Given the description of an element on the screen output the (x, y) to click on. 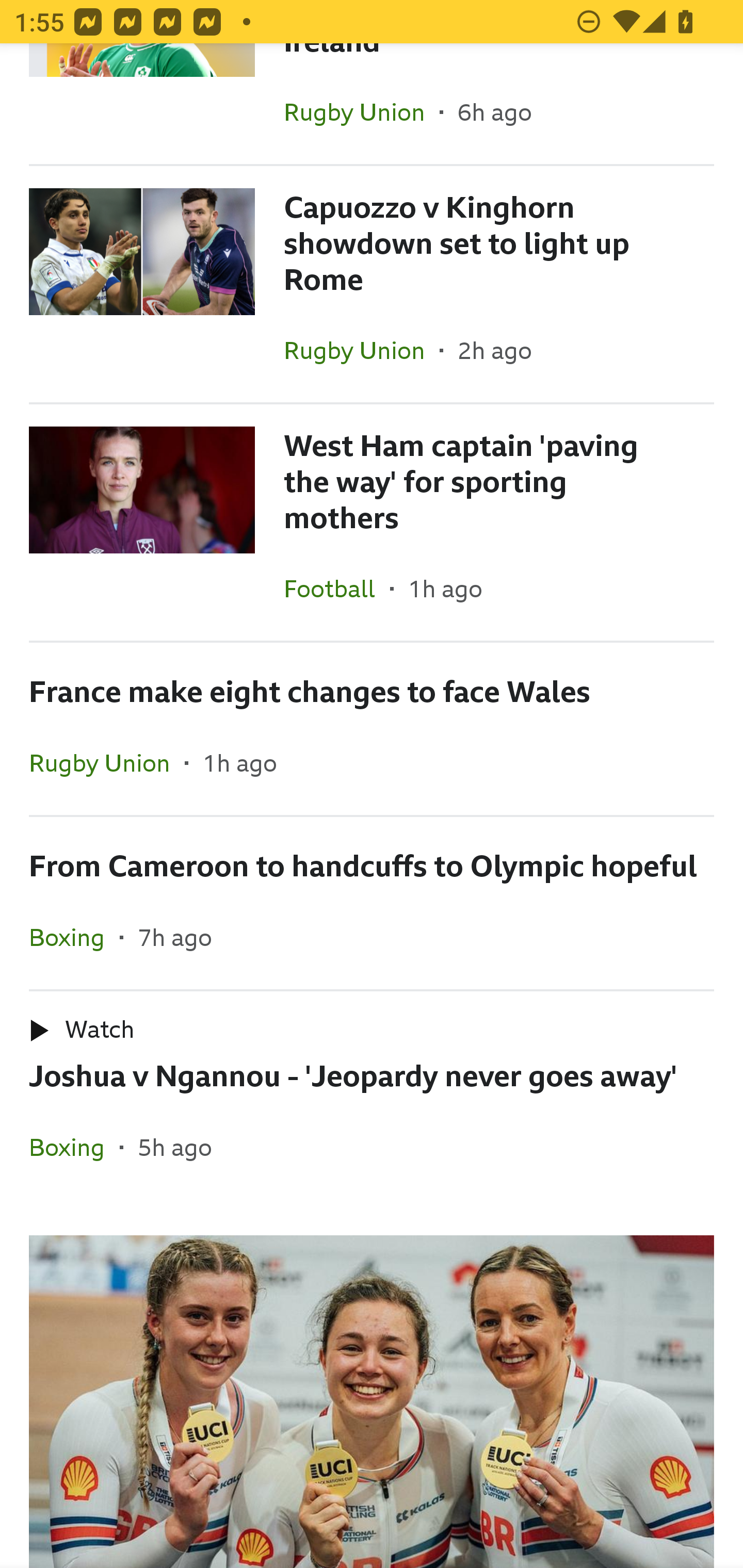
Rugby Union In the section Rugby Union (361, 111)
Rugby Union In the section Rugby Union (361, 349)
Football In the section Football (336, 588)
Rugby Union In the section Rugby Union (106, 762)
Boxing In the section Boxing (73, 936)
Boxing In the section Boxing (73, 1146)
